Given the description of an element on the screen output the (x, y) to click on. 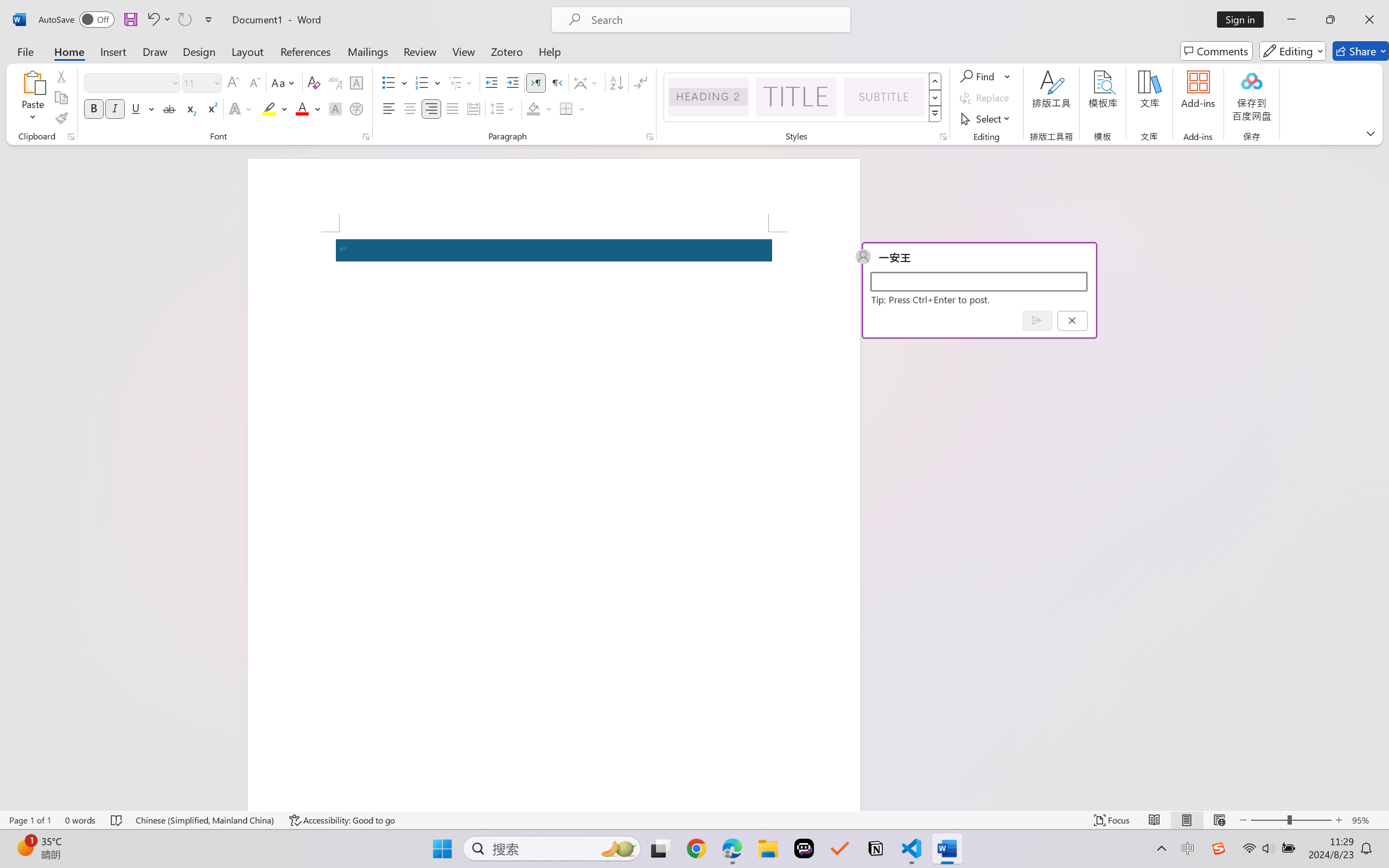
Editing (1292, 50)
